Given the description of an element on the screen output the (x, y) to click on. 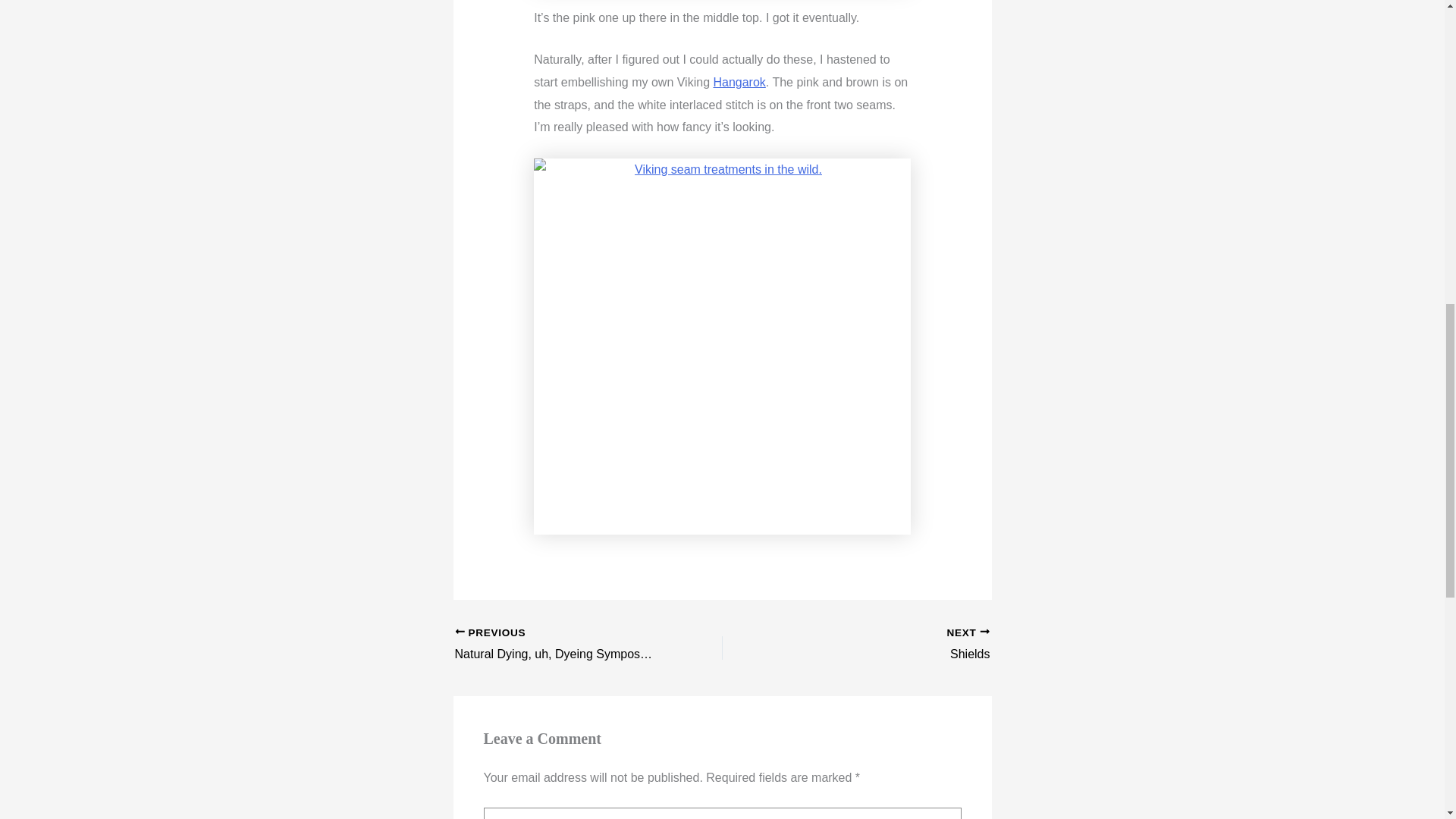
Shields (882, 645)
Hangarok (739, 82)
Natural Dying, uh, Dyeing Symposium (561, 645)
